Given the description of an element on the screen output the (x, y) to click on. 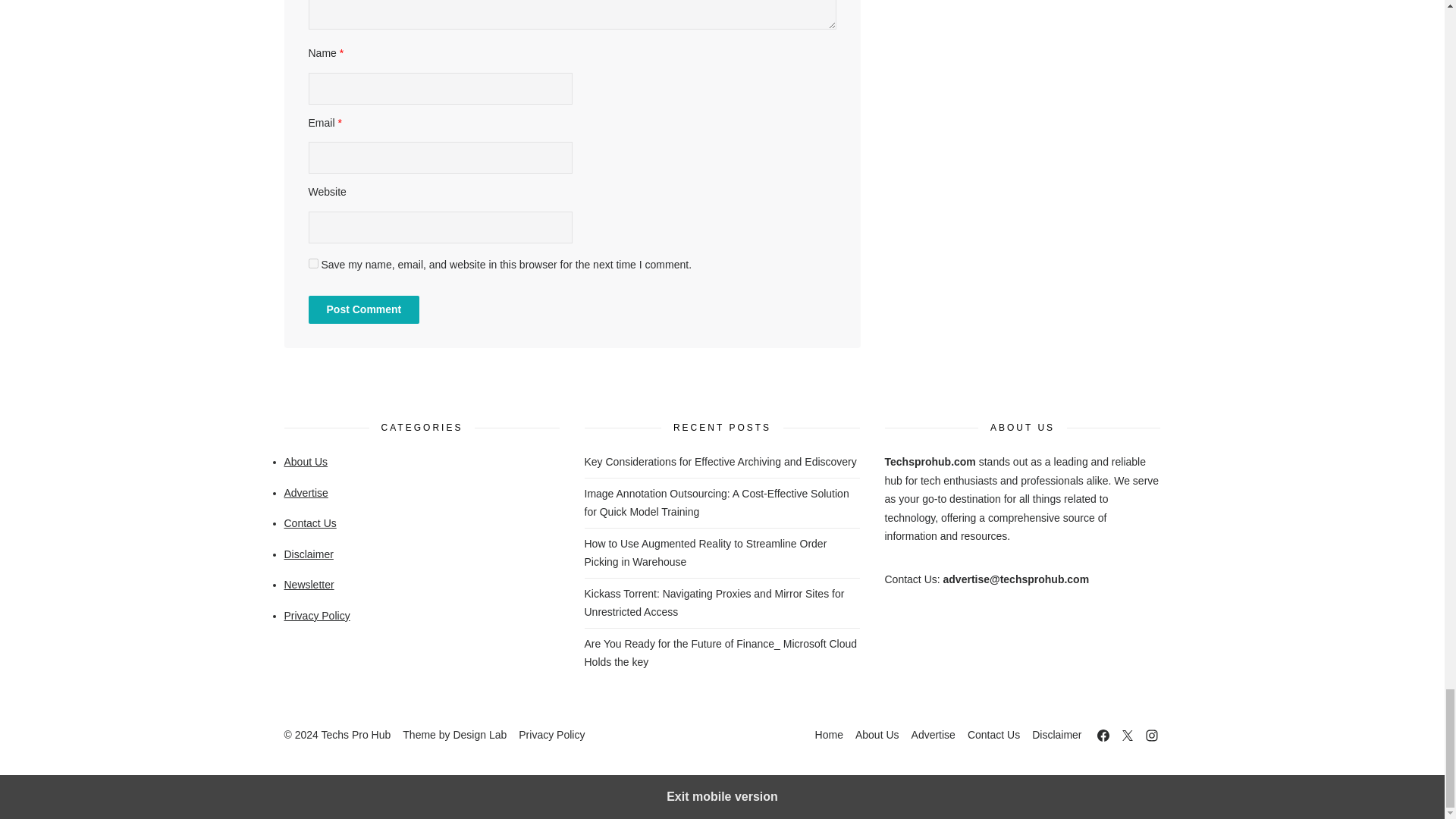
Post Comment (363, 309)
yes (312, 263)
